Given the description of an element on the screen output the (x, y) to click on. 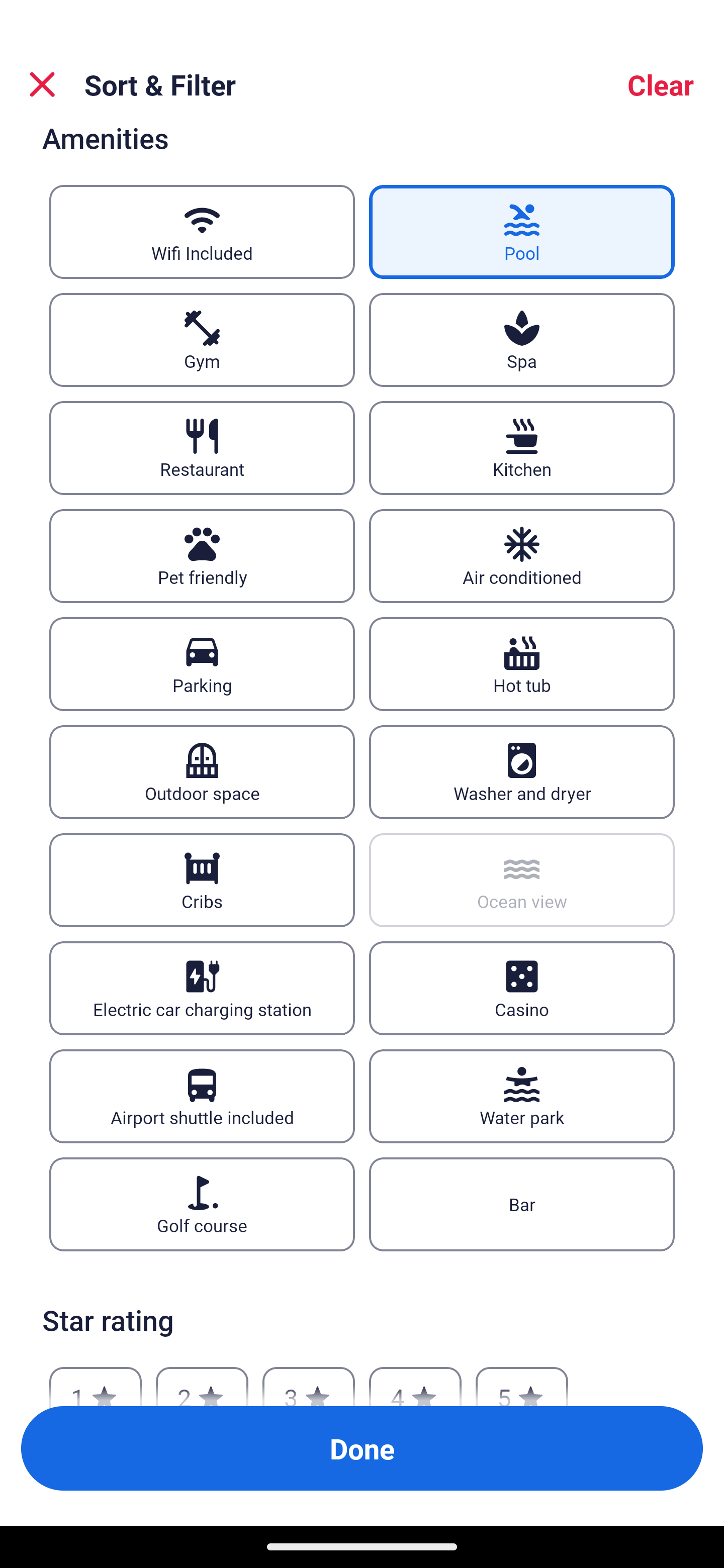
Close Sort and Filter (42, 84)
Clear (660, 84)
Wifi Included (201, 232)
Pool (521, 232)
Gym (201, 340)
Spa (521, 340)
Restaurant (201, 448)
Kitchen (521, 448)
Pet friendly (201, 556)
Air conditioned (521, 556)
Parking (201, 664)
Hot tub (521, 664)
Outdoor space (201, 771)
Washer and dryer (521, 771)
Cribs (201, 879)
Ocean view (521, 879)
Electric car charging station (201, 987)
Casino (521, 987)
Airport shuttle included (201, 1095)
Water park (521, 1095)
Golf course (201, 1204)
Bar (521, 1204)
Apply and close Sort and Filter Done (361, 1448)
